Given the description of an element on the screen output the (x, y) to click on. 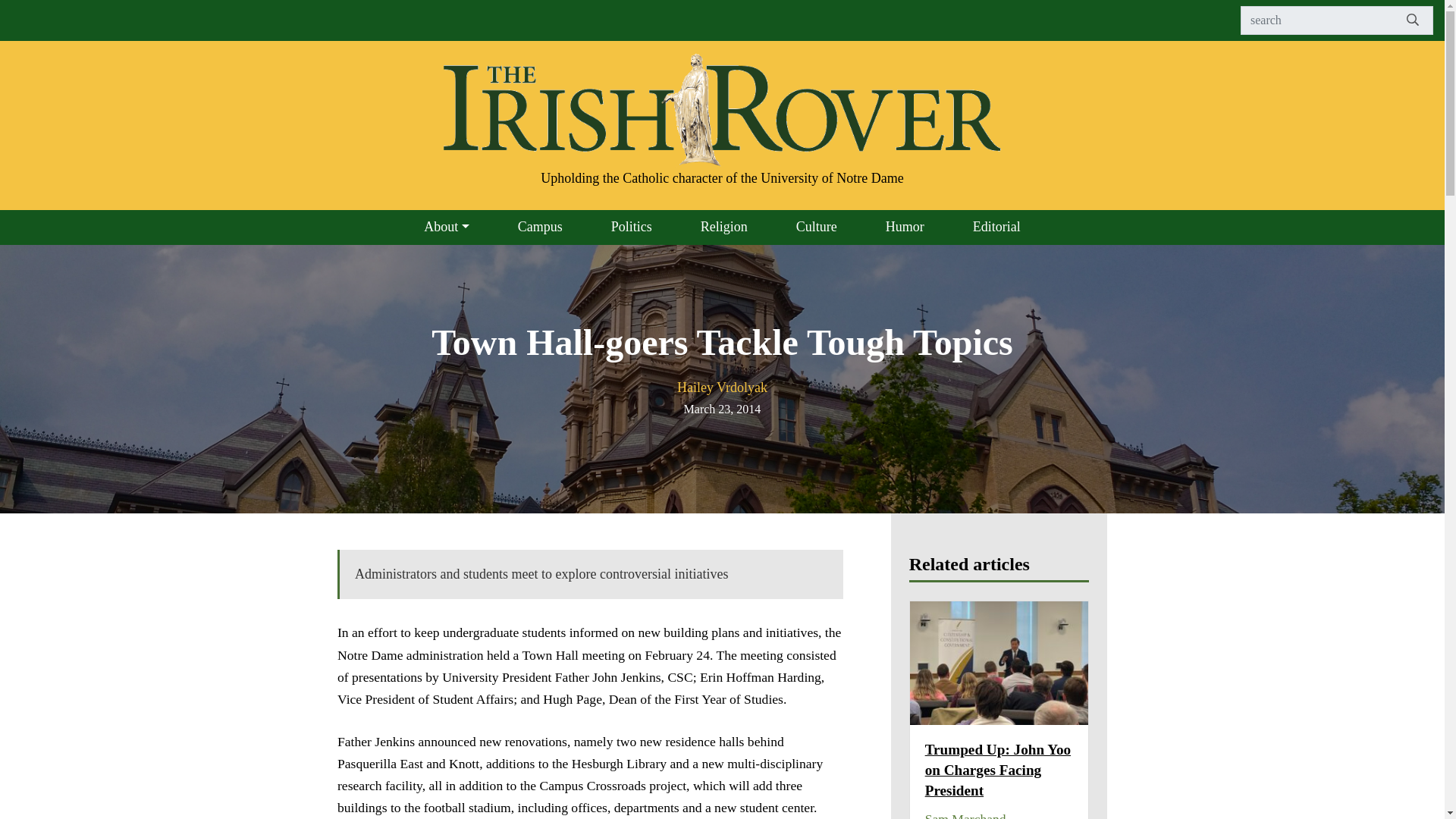
Hailey Vrdolyak (722, 387)
Posts by Hailey Vrdolyak (722, 387)
Trumped Up: John Yoo on Charges Facing President (997, 770)
Religion (724, 226)
Posts by Sam Marchand (965, 815)
Editorial (997, 226)
Campus (539, 226)
About (445, 226)
Sam Marchand (965, 815)
Politics (631, 226)
